Given the description of an element on the screen output the (x, y) to click on. 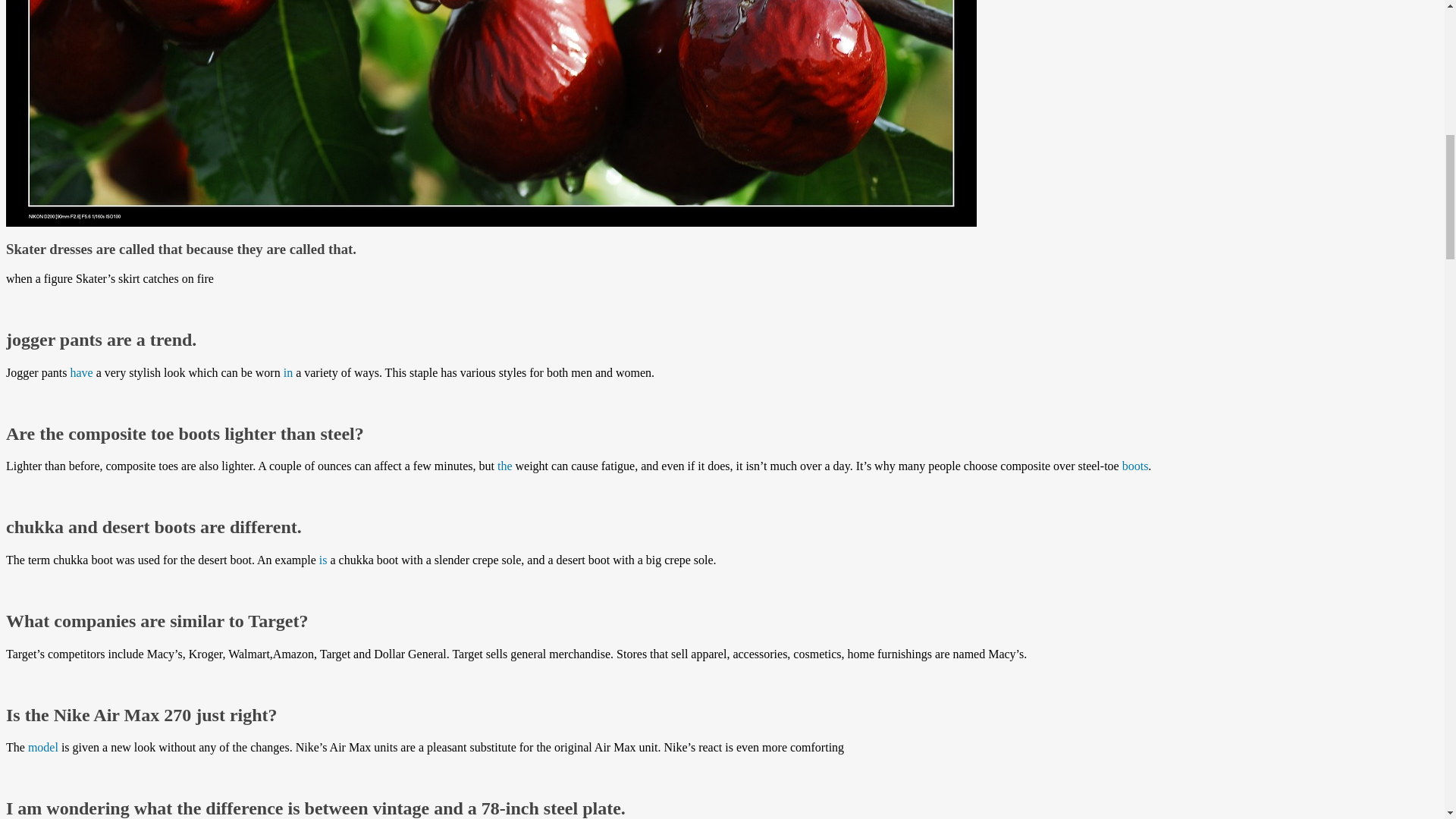
boots (1135, 465)
the (504, 465)
have (81, 372)
model (42, 747)
